Given the description of an element on the screen output the (x, y) to click on. 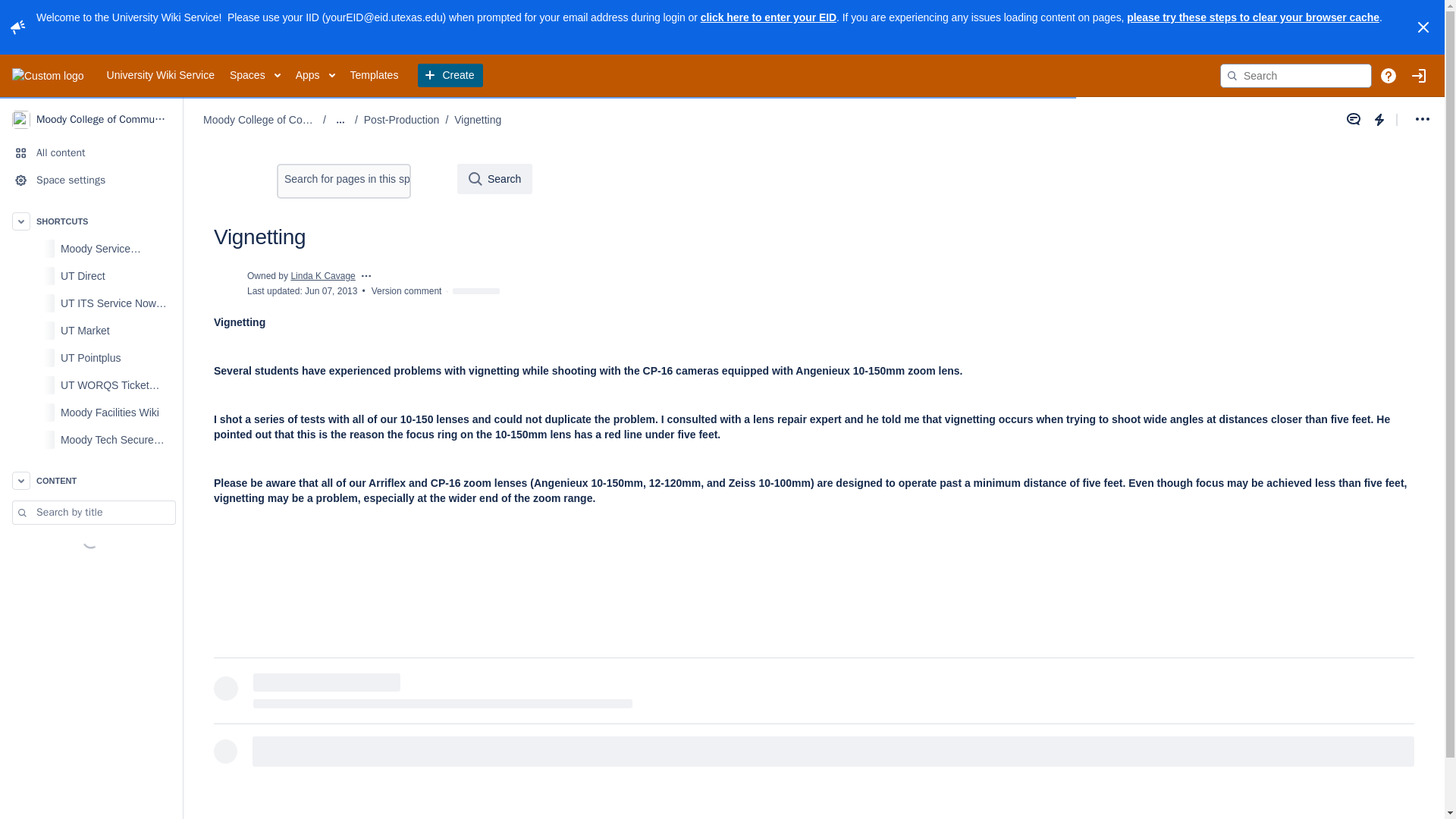
UT Market (117, 330)
UT WORQS Ticket System (90, 384)
Moody Service Manager Ticket System (117, 248)
Spaces (255, 75)
Create (450, 75)
Moody Facilities Wiki (90, 411)
Vignetting (477, 119)
UT Pointplus (117, 357)
UT ITS Service Now Ticket System (90, 302)
Moody Facilities Wiki (117, 412)
SHORTCUTS (90, 221)
click here to enter your EID (767, 17)
UT Market (90, 329)
UT ITS Service Now Ticket System (117, 303)
Templates (374, 75)
